Given the description of an element on the screen output the (x, y) to click on. 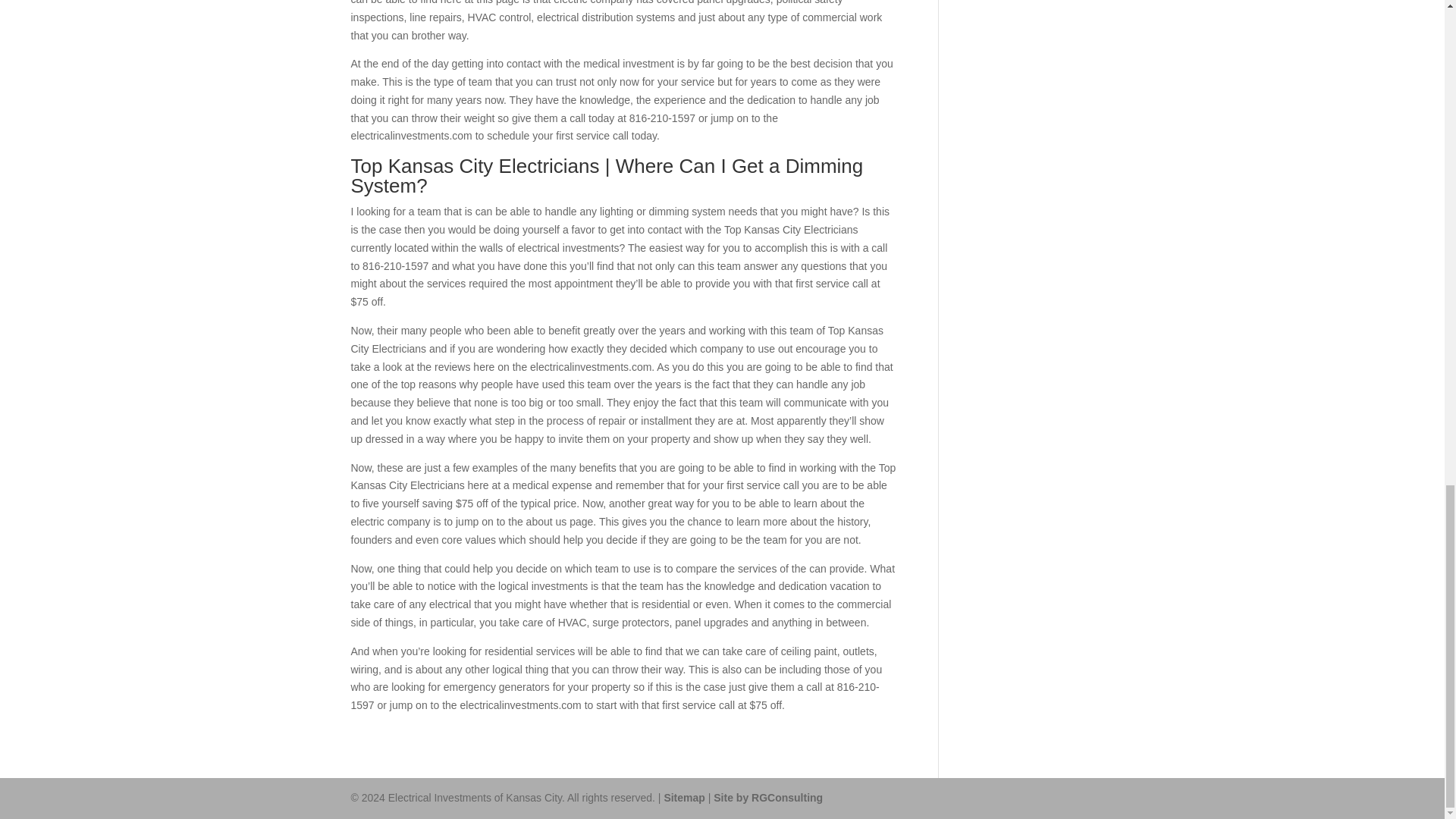
Sitemap (683, 797)
Site by RGConsulting (767, 797)
